Given the description of an element on the screen output the (x, y) to click on. 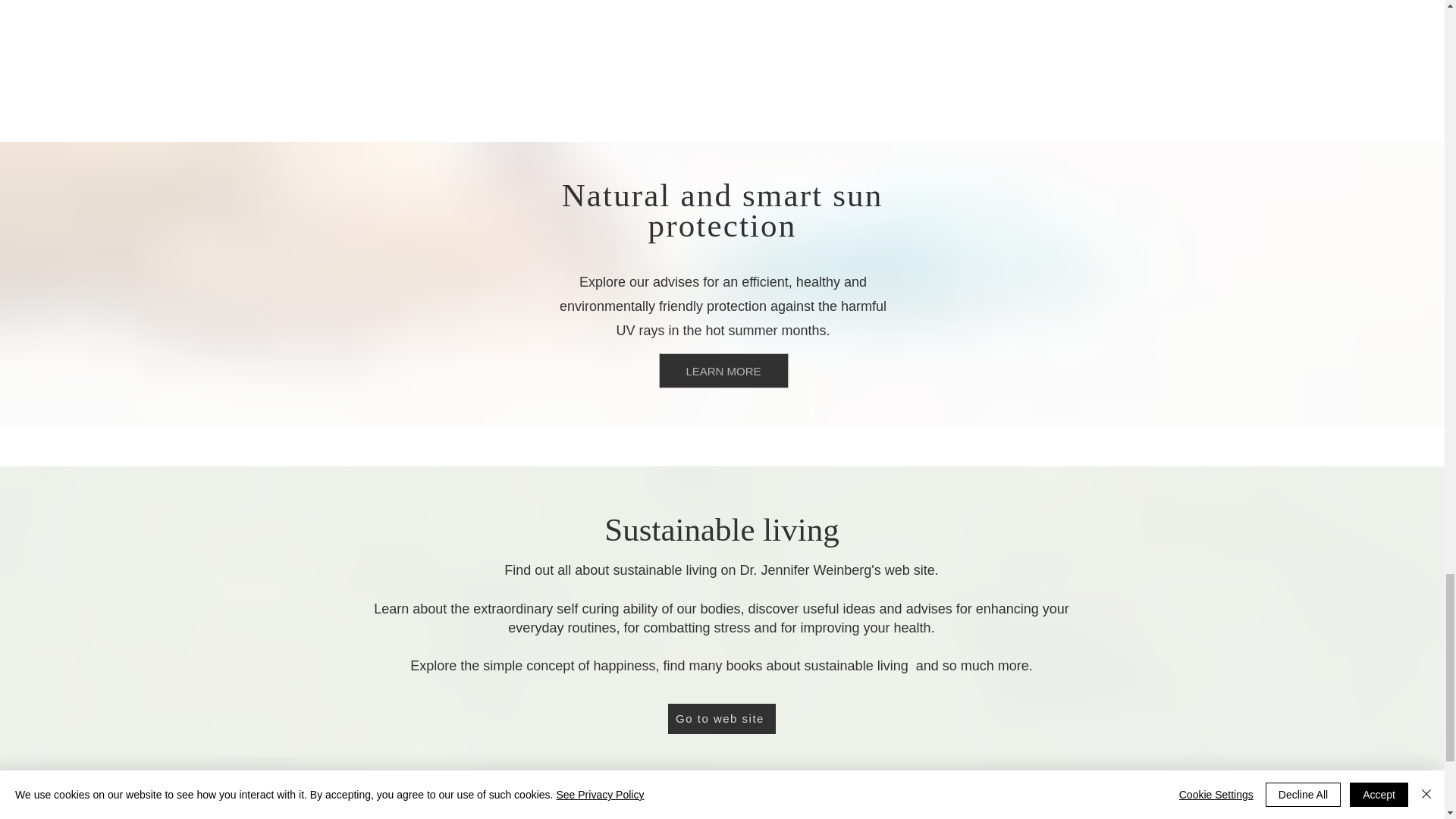
Reservation and Cancellation policy (849, 809)
Terms Of Use (620, 805)
Go to web site (720, 718)
Privacy Policy (550, 805)
LEARN MORE (722, 370)
